Given the description of an element on the screen output the (x, y) to click on. 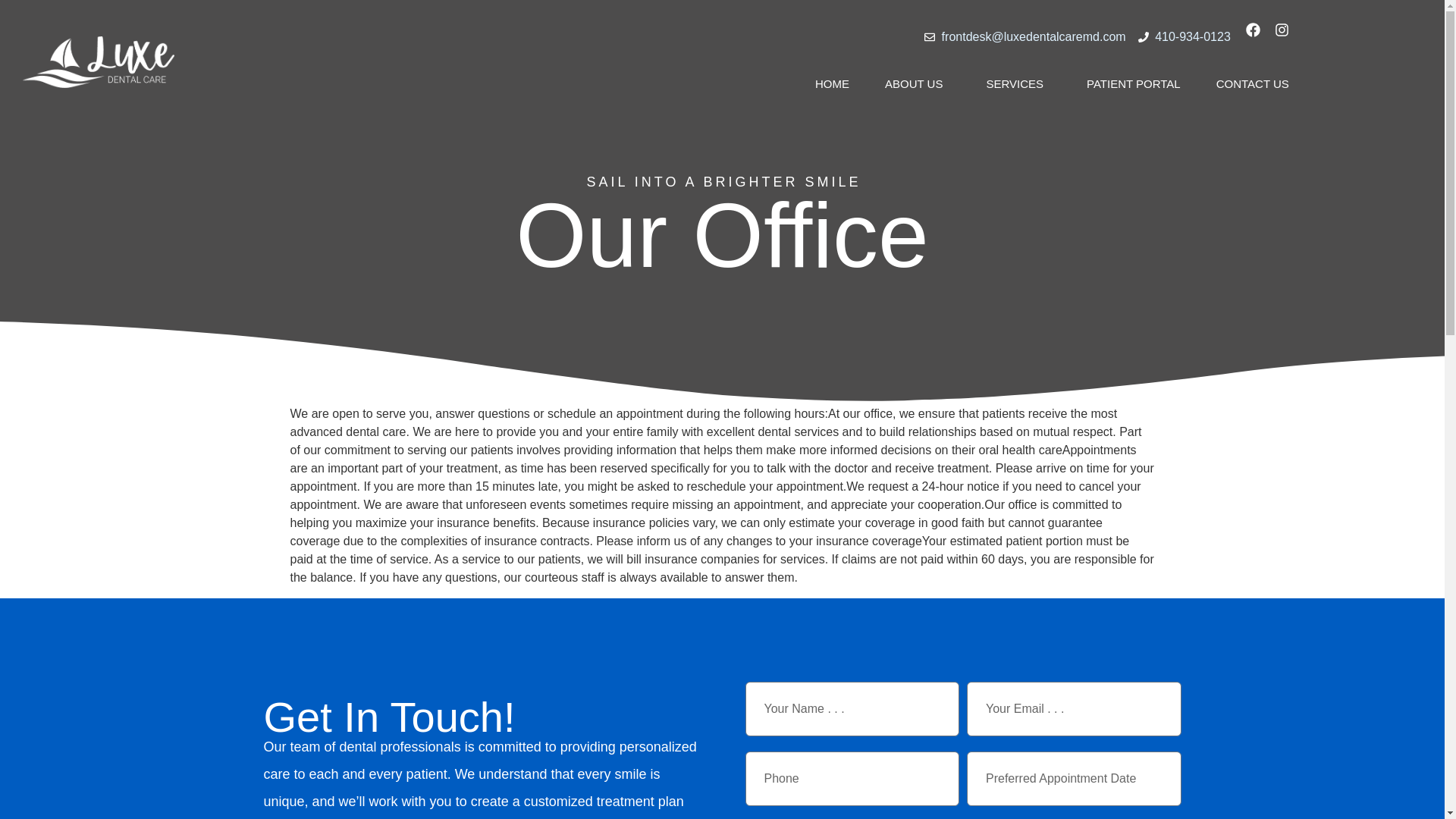
410-934-0123 (1184, 36)
